Given the description of an element on the screen output the (x, y) to click on. 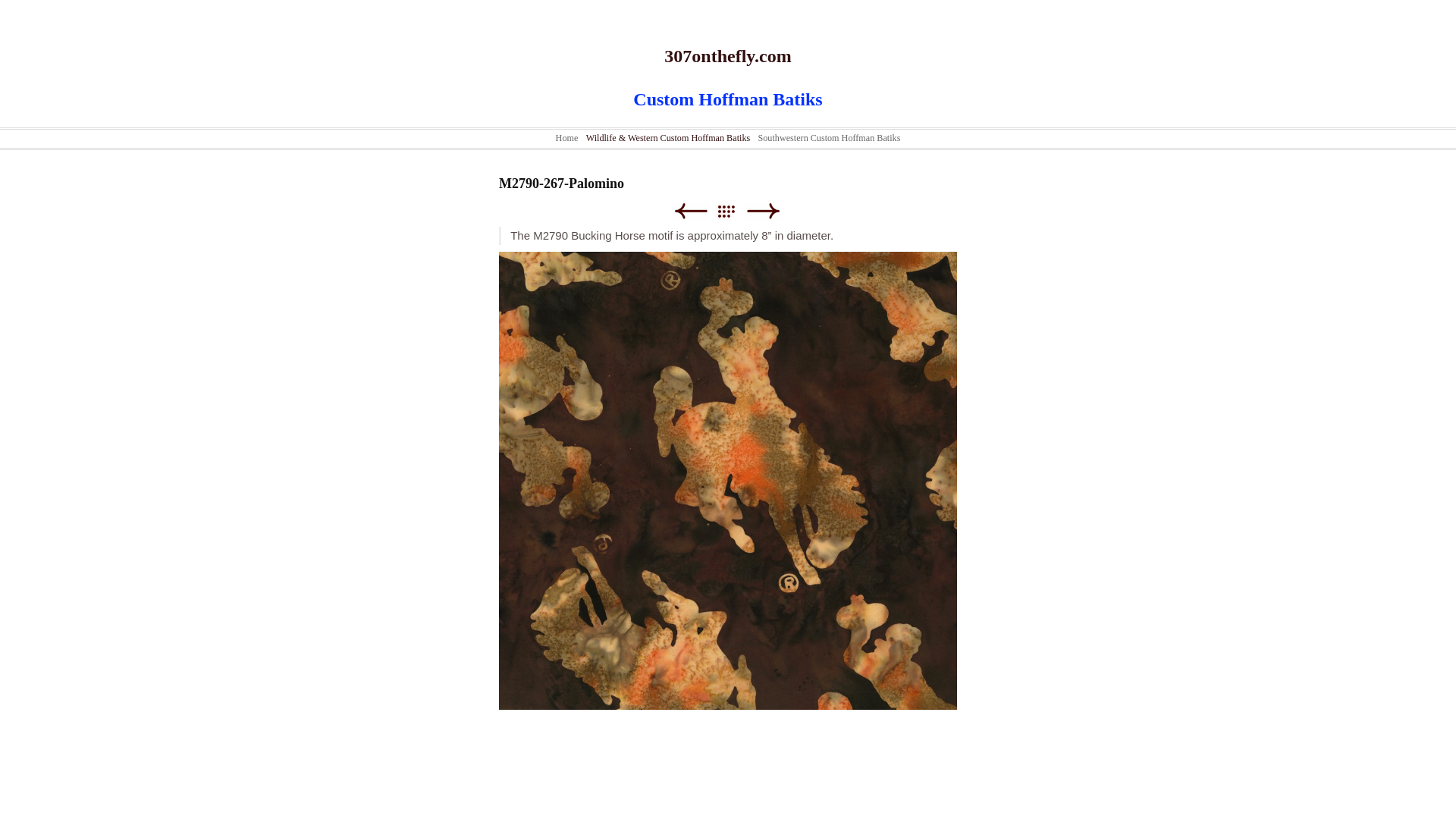
307onthefly.com Element type: text (727, 55)
Southwestern Custom Hoffman Batiks Element type: text (829, 137)
Wildlife & Western Custom Hoffman Batiks Element type: text (668, 137)
List Element type: text (733, 210)
Previous Element type: text (690, 210)
Next Element type: text (762, 210)
Home Element type: text (566, 137)
